Given the description of an element on the screen output the (x, y) to click on. 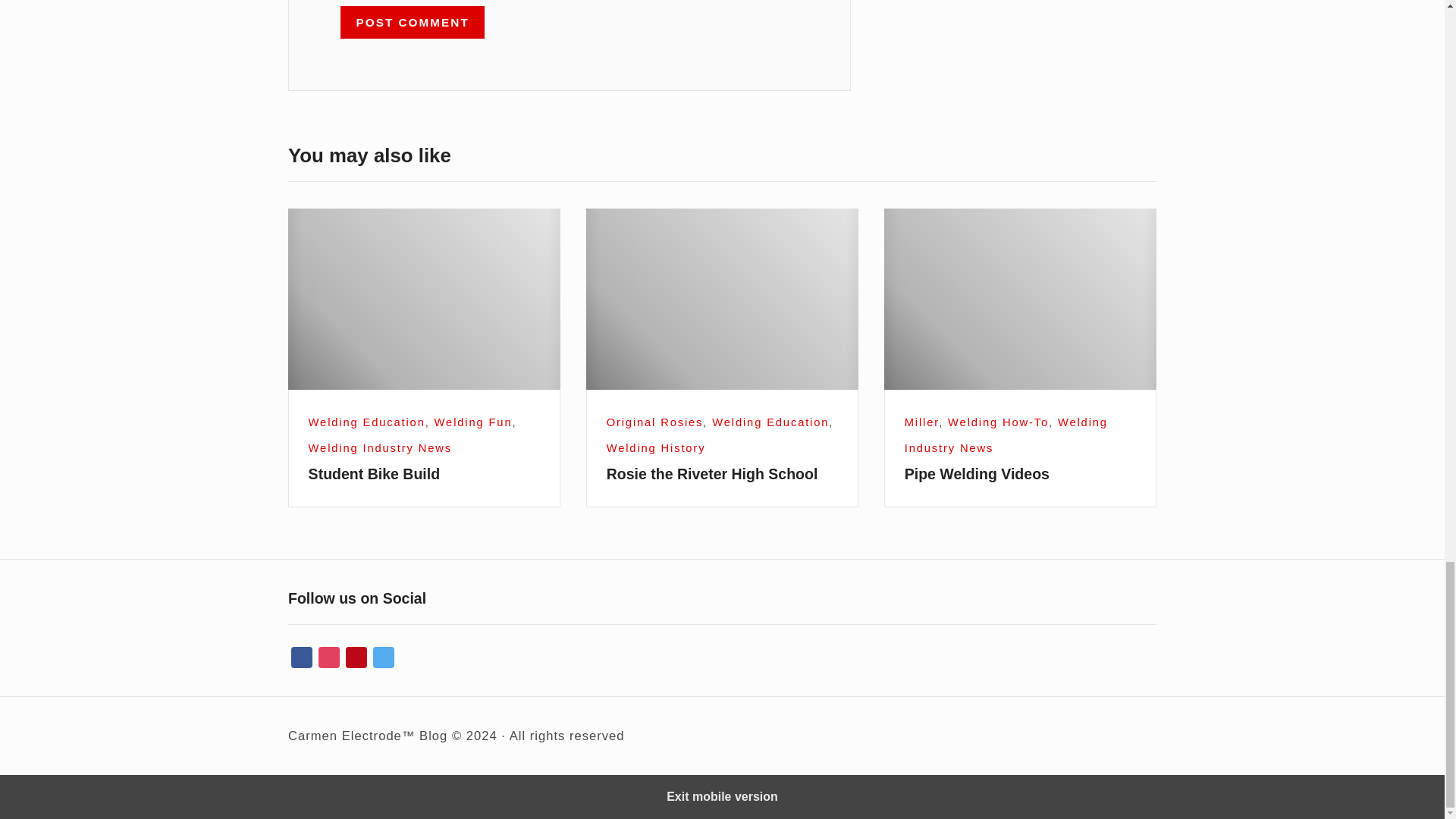
Instagram (328, 658)
Post Comment (412, 21)
Facebook (301, 658)
Post Comment (412, 21)
